Given the description of an element on the screen output the (x, y) to click on. 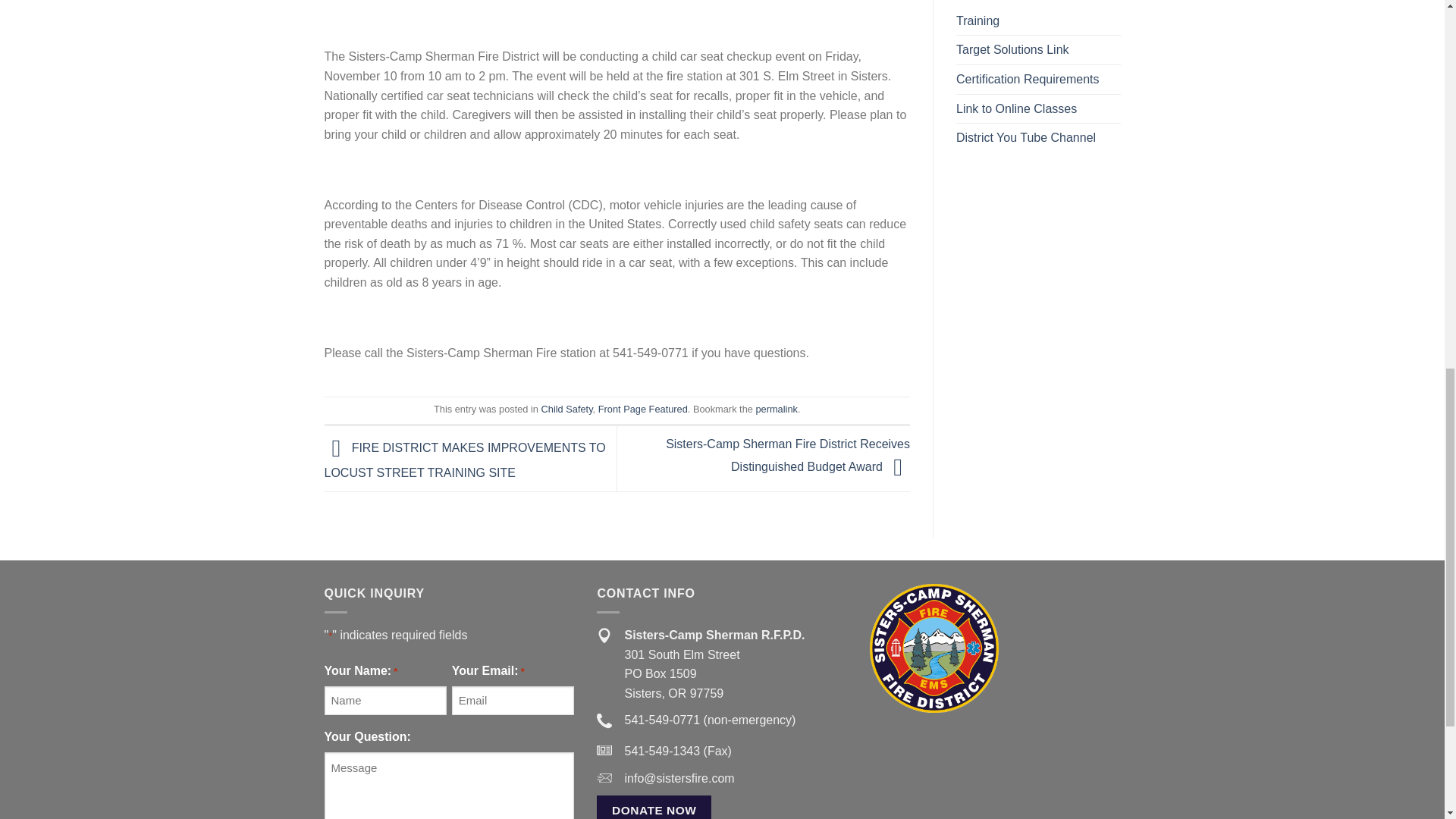
Permalink to Child Car Seat Checkup Event November 10 (775, 408)
